Given the description of an element on the screen output the (x, y) to click on. 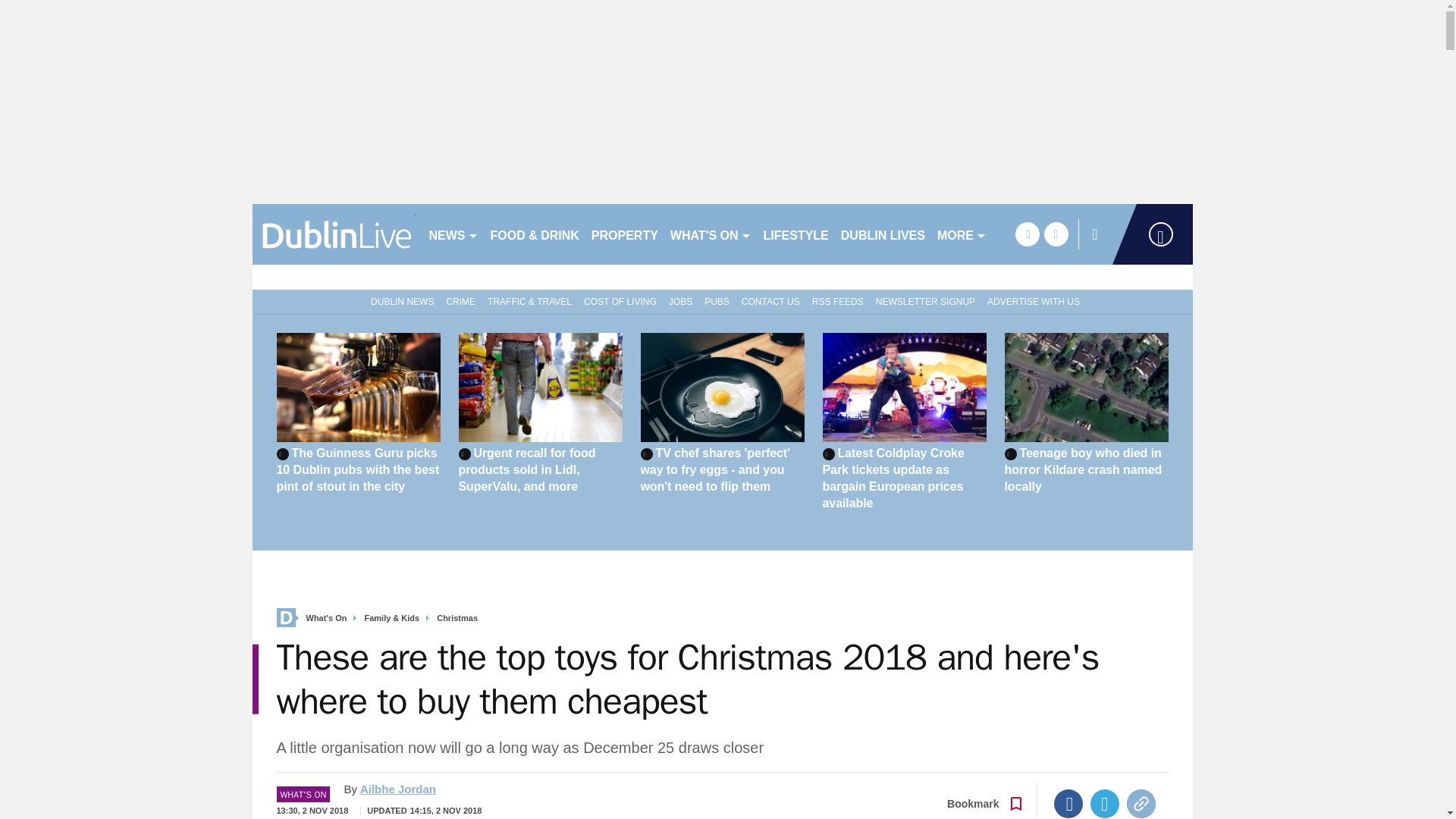
Facebook (1068, 803)
DUBLIN LIVES (882, 233)
dublinlive (332, 233)
NEWS (453, 233)
LIFESTYLE (795, 233)
facebook (1026, 233)
MORE (961, 233)
twitter (1055, 233)
Twitter (1104, 803)
WHAT'S ON (710, 233)
